Given the description of an element on the screen output the (x, y) to click on. 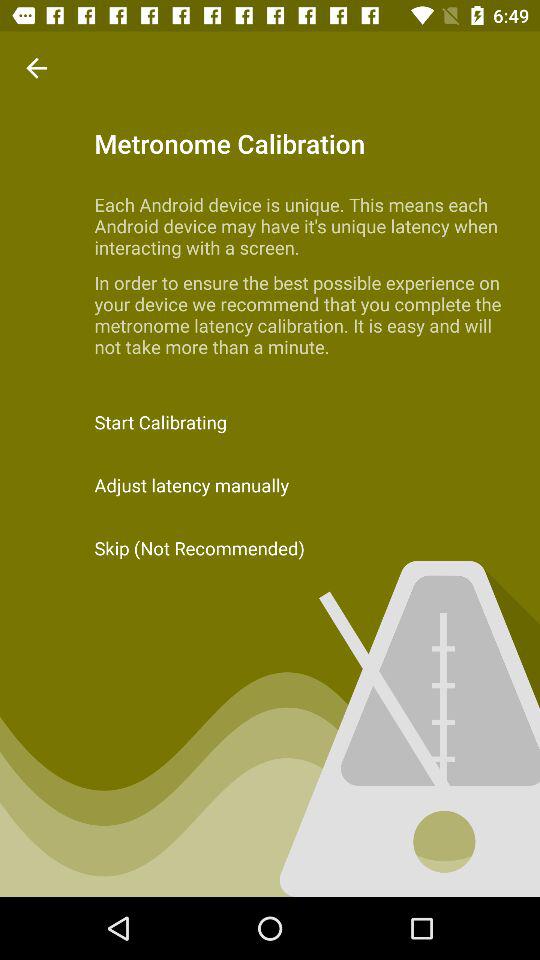
click item at the top left corner (36, 68)
